Given the description of an element on the screen output the (x, y) to click on. 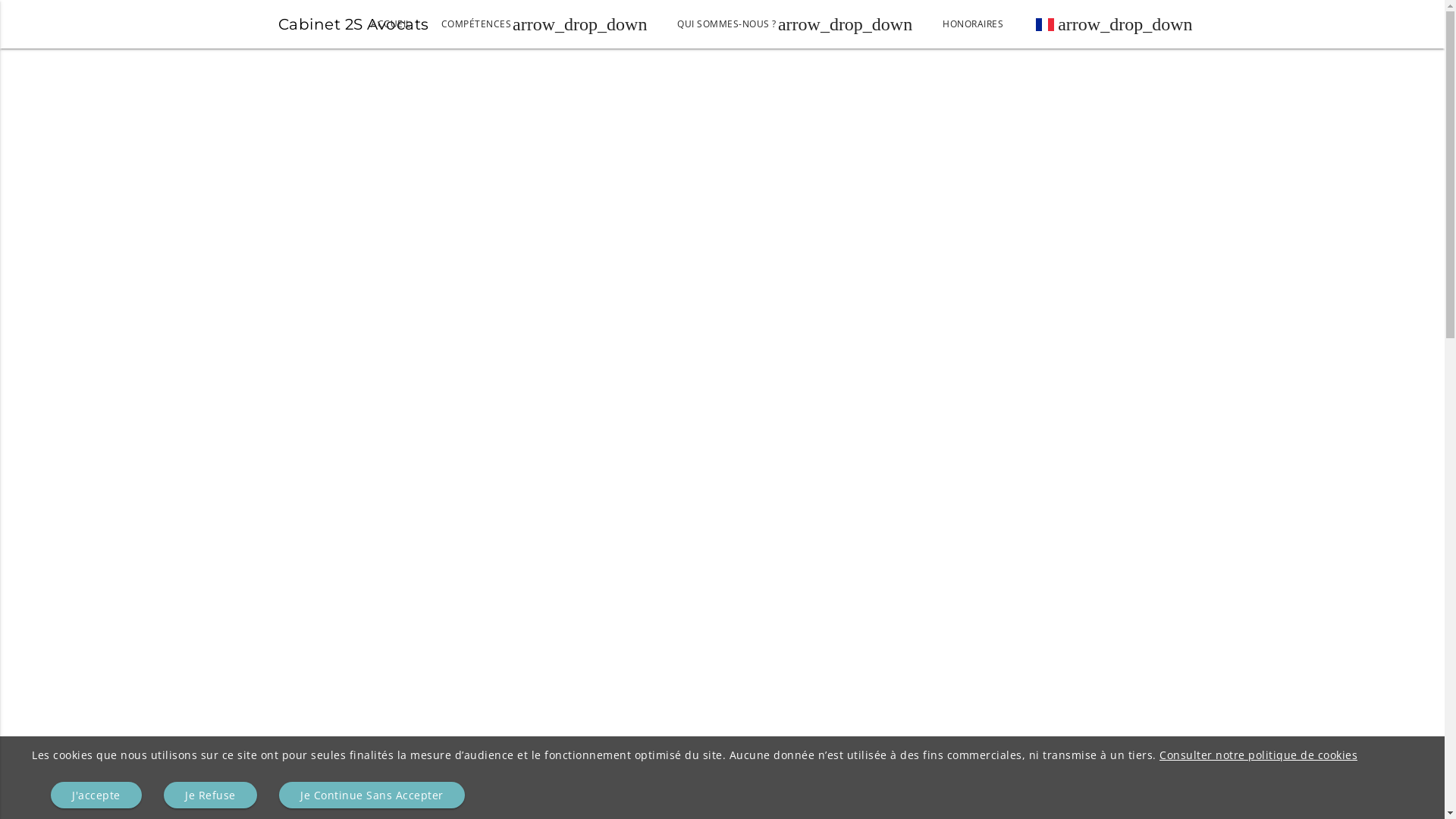
QUI SOMMES-NOUS ?
arrow_drop_down Element type: text (794, 24)
HONORAIRES Element type: text (972, 24)
Consulter notre politique de cookies Element type: text (1258, 754)
Cabinet 2S Avocats Element type: text (332, 28)
arrow_drop_down Element type: text (1112, 24)
ACCUEIL Element type: text (390, 24)
